Given the description of an element on the screen output the (x, y) to click on. 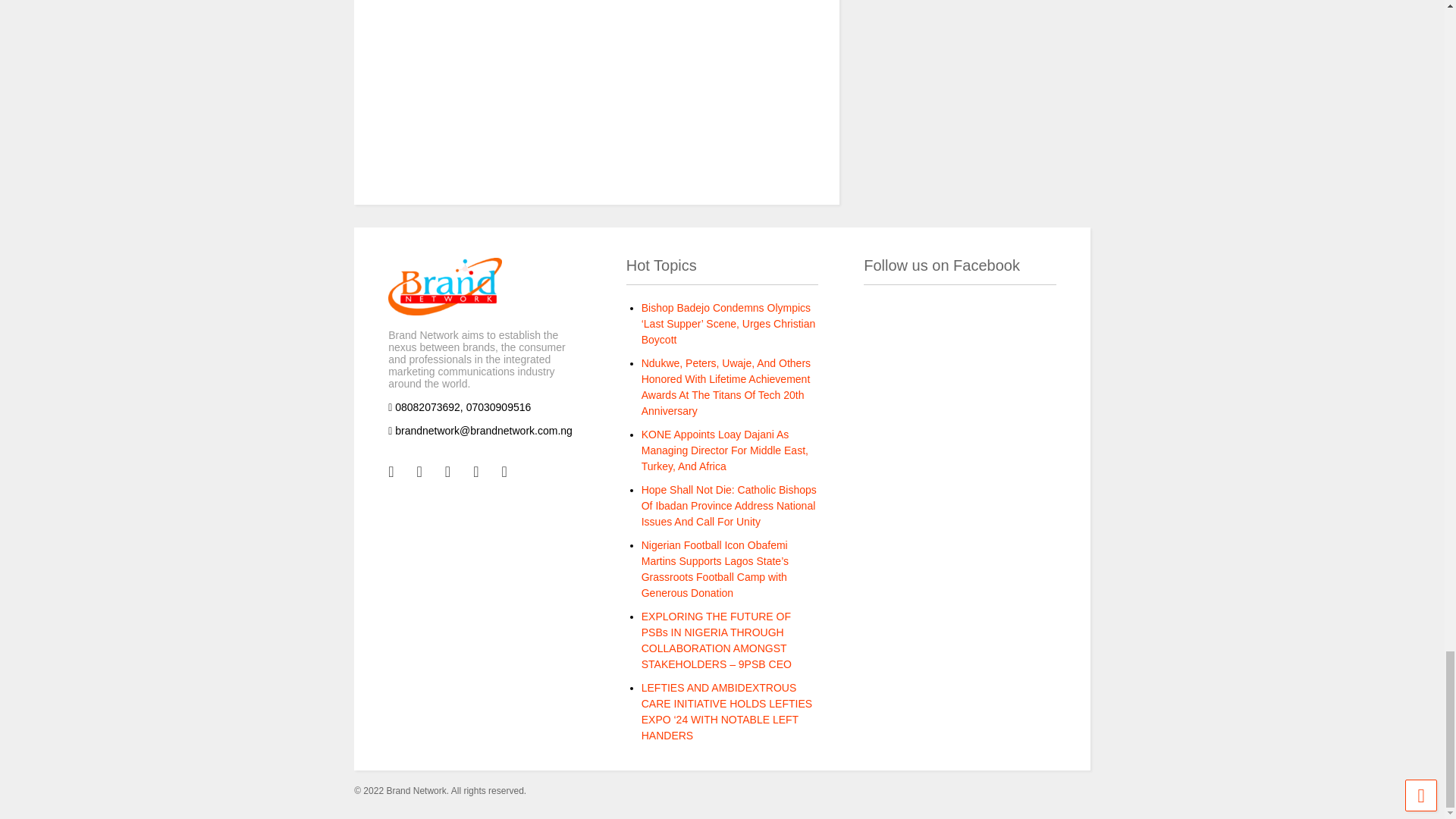
Comment Form (596, 95)
